Given the description of an element on the screen output the (x, y) to click on. 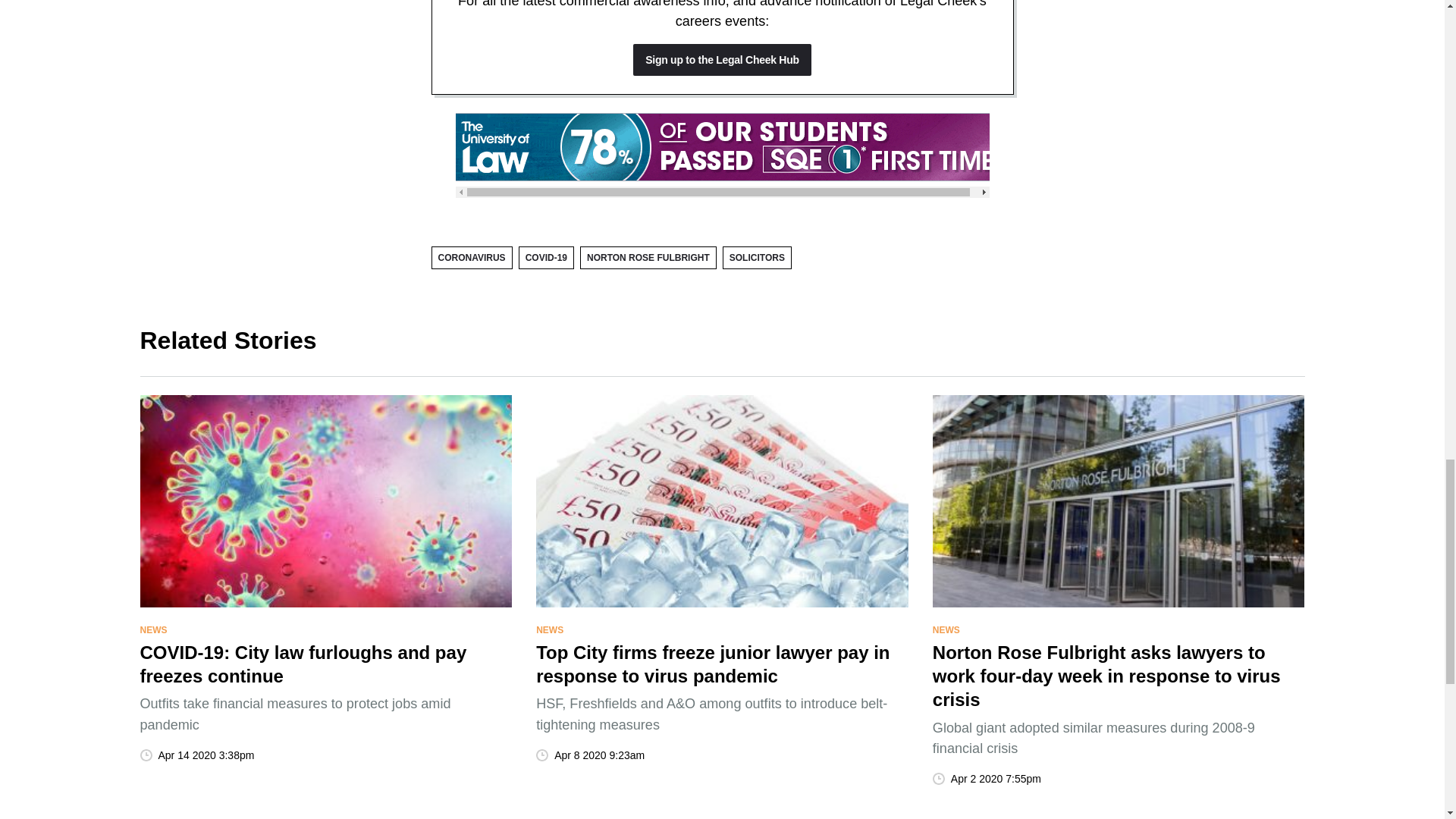
CORONAVIRUS (471, 257)
advertisement (721, 146)
Sign up to the Legal Cheek Hub (721, 60)
COVID-19 (545, 257)
NORTON ROSE FULBRIGHT (647, 257)
